Given the description of an element on the screen output the (x, y) to click on. 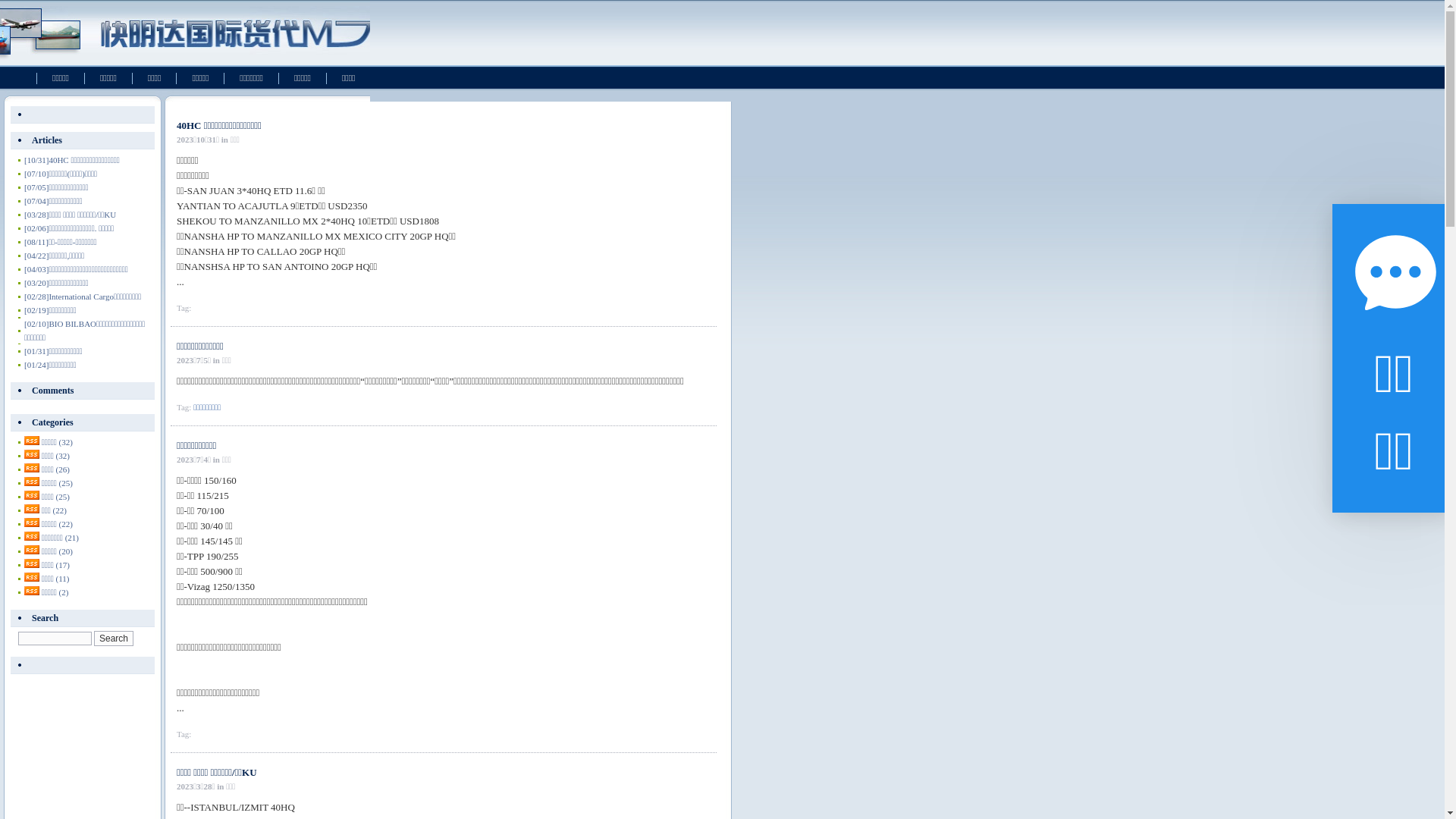
rss Element type: hover (31, 481)
rss Element type: hover (31, 535)
rss Element type: hover (31, 494)
rss Element type: hover (31, 576)
rss Element type: hover (31, 467)
rss Element type: hover (31, 508)
rss Element type: hover (31, 590)
Search Element type: text (113, 638)
rss Element type: hover (31, 549)
rss Element type: hover (31, 522)
rss Element type: hover (31, 562)
rss Element type: hover (31, 453)
  Element type: text (82, 665)
rss Element type: hover (31, 440)
